Given the description of an element on the screen output the (x, y) to click on. 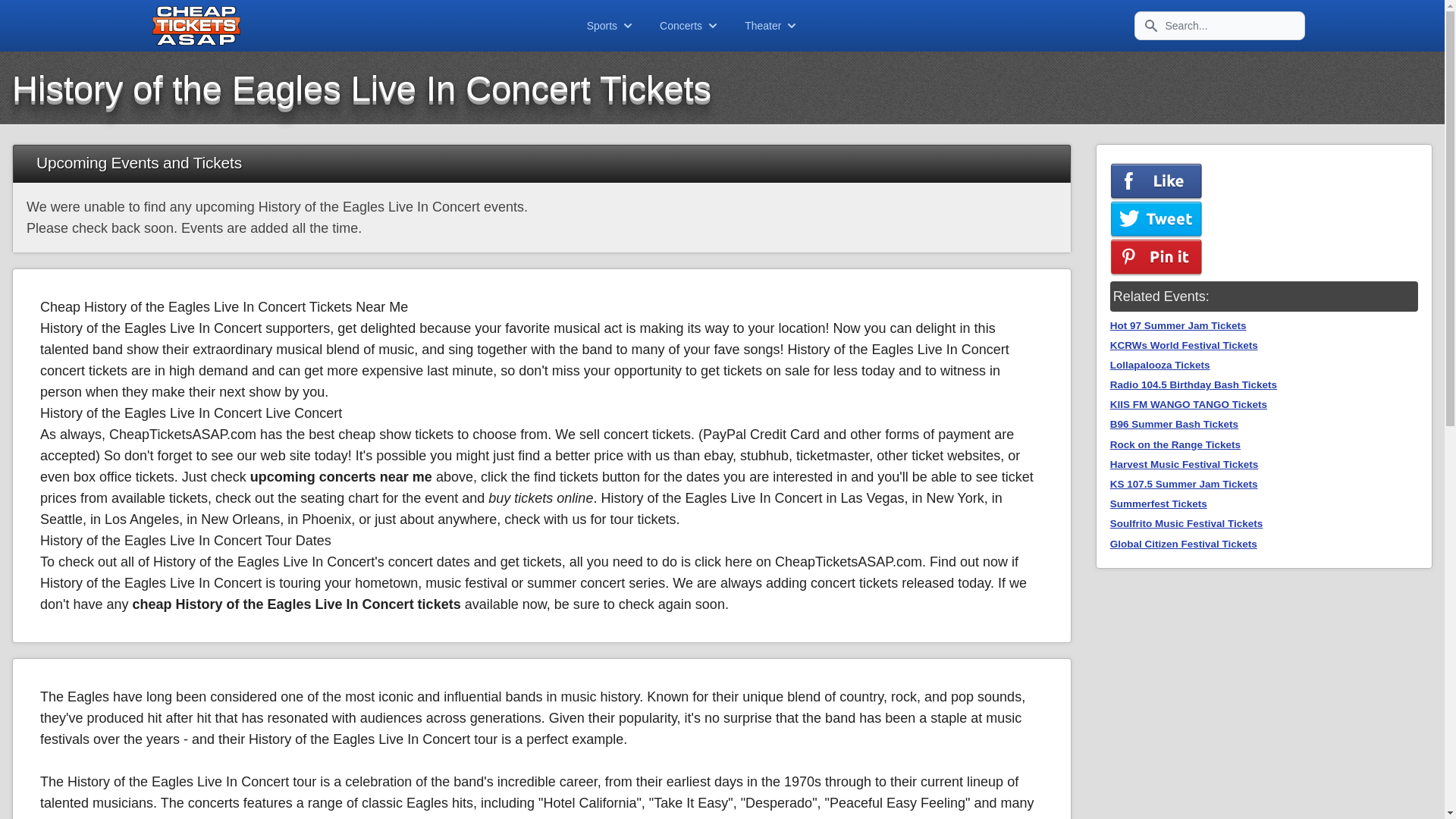
Theater (771, 25)
Concerts (689, 25)
Sports (610, 25)
